Given the description of an element on the screen output the (x, y) to click on. 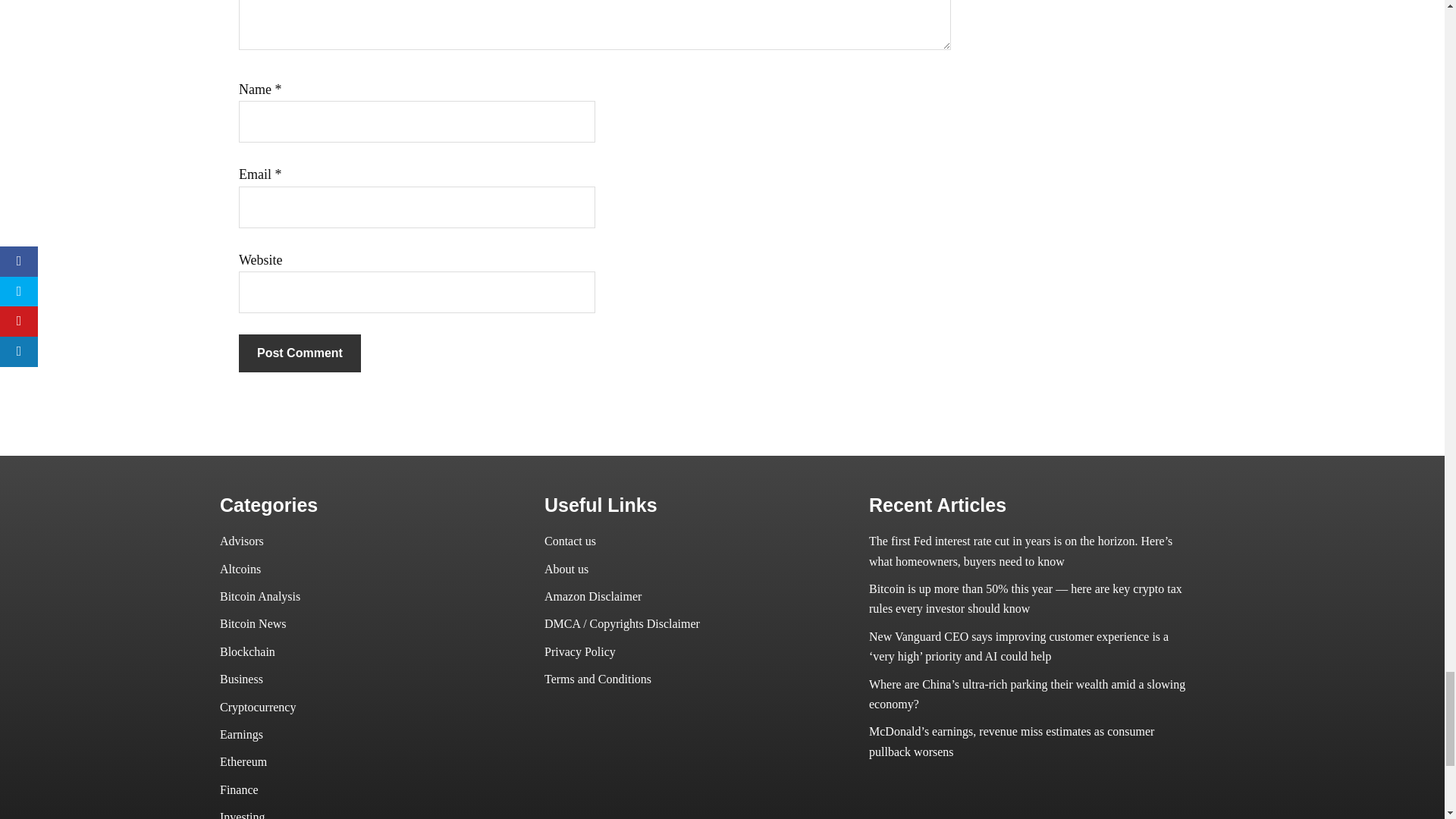
Post Comment (299, 353)
